Given the description of an element on the screen output the (x, y) to click on. 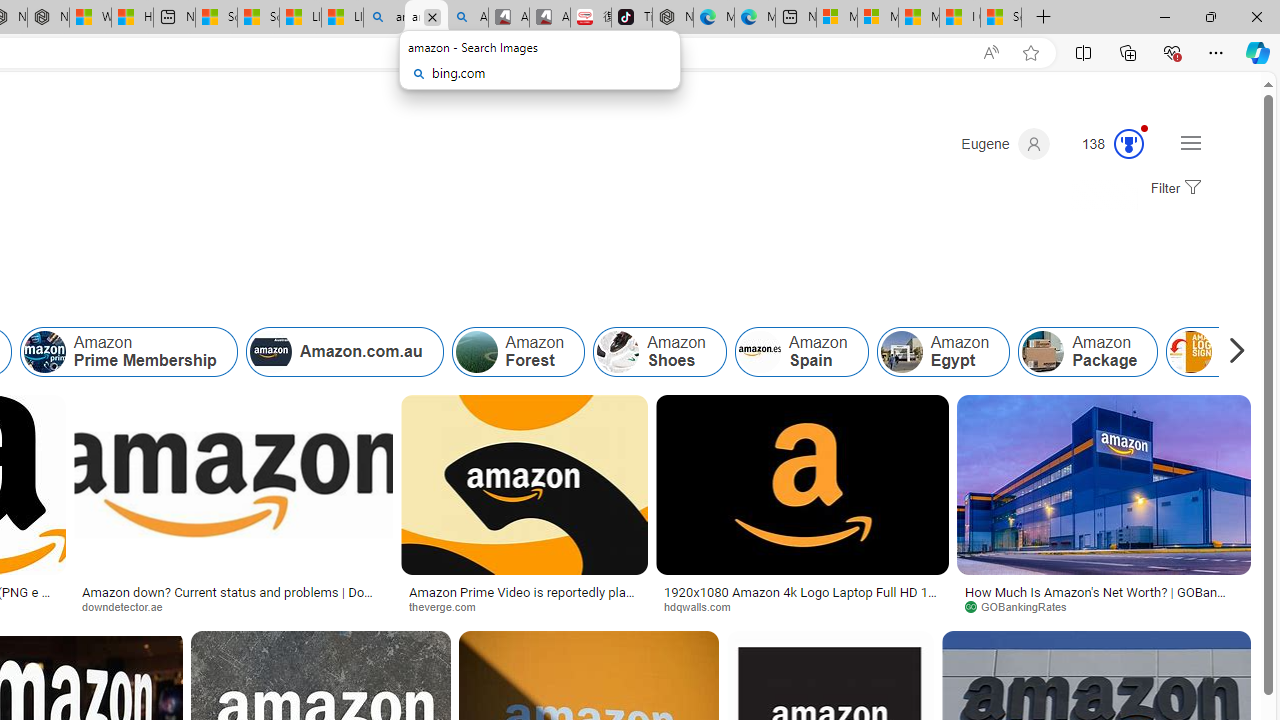
Amazon Egypt (942, 351)
GOBankingRates (1103, 606)
Amazon Echo Robot - Search Images (467, 17)
